Given the description of an element on the screen output the (x, y) to click on. 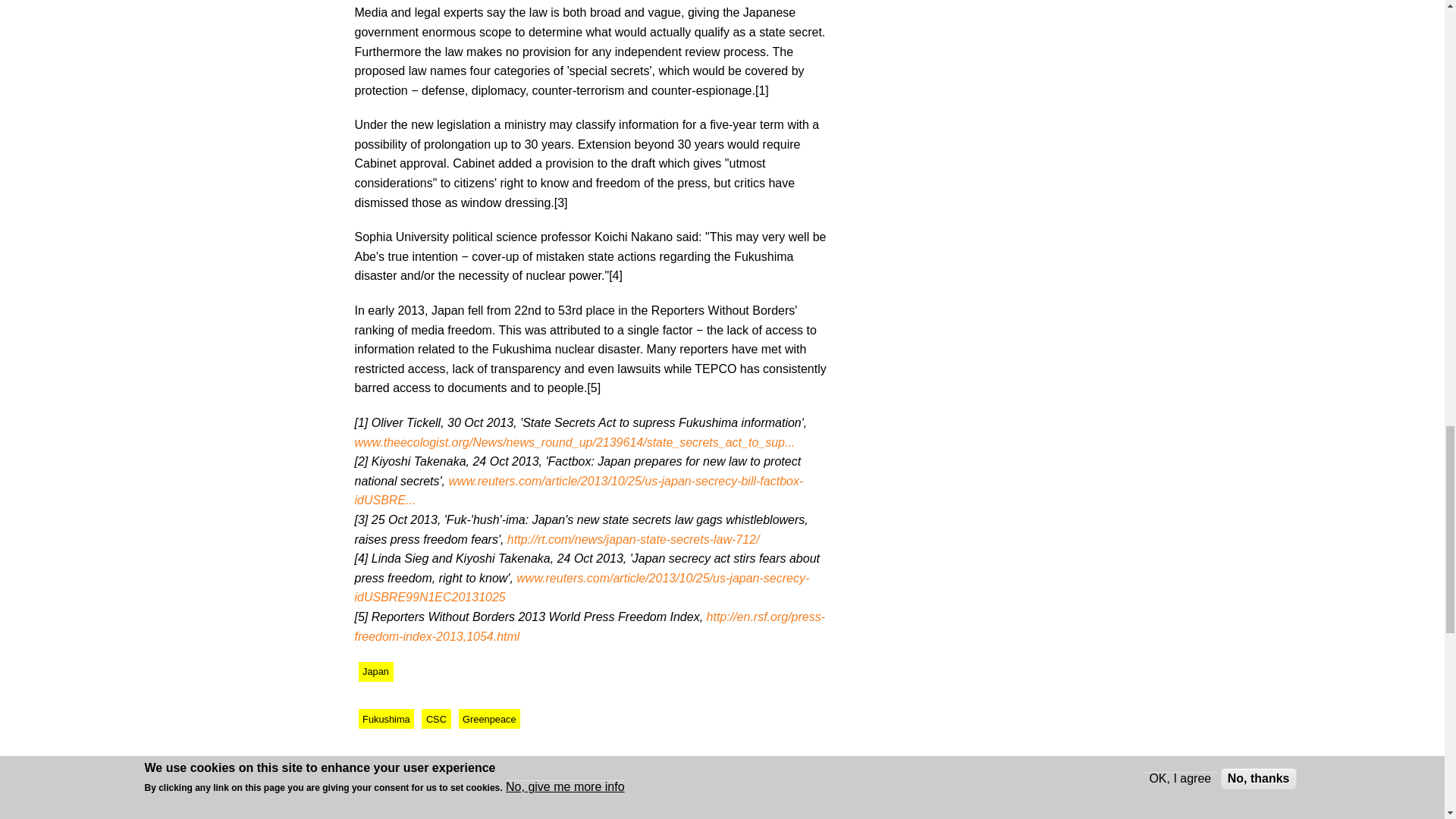
Fukushima (385, 718)
CSC (435, 718)
Greenpeace (488, 718)
Japan (375, 671)
